Given the description of an element on the screen output the (x, y) to click on. 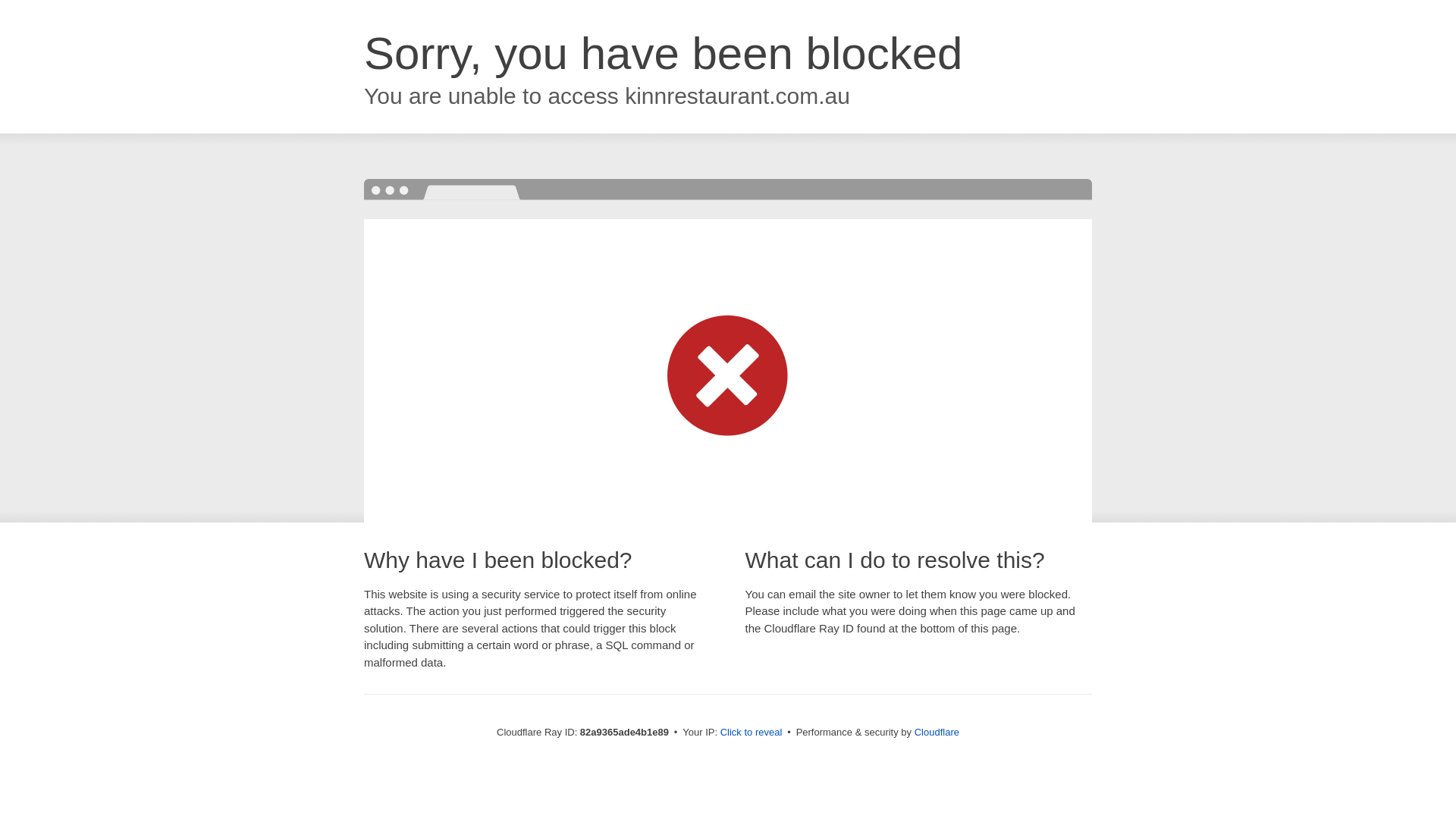
Click to reveal Element type: text (751, 732)
Cloudflare Element type: text (936, 731)
